Given the description of an element on the screen output the (x, y) to click on. 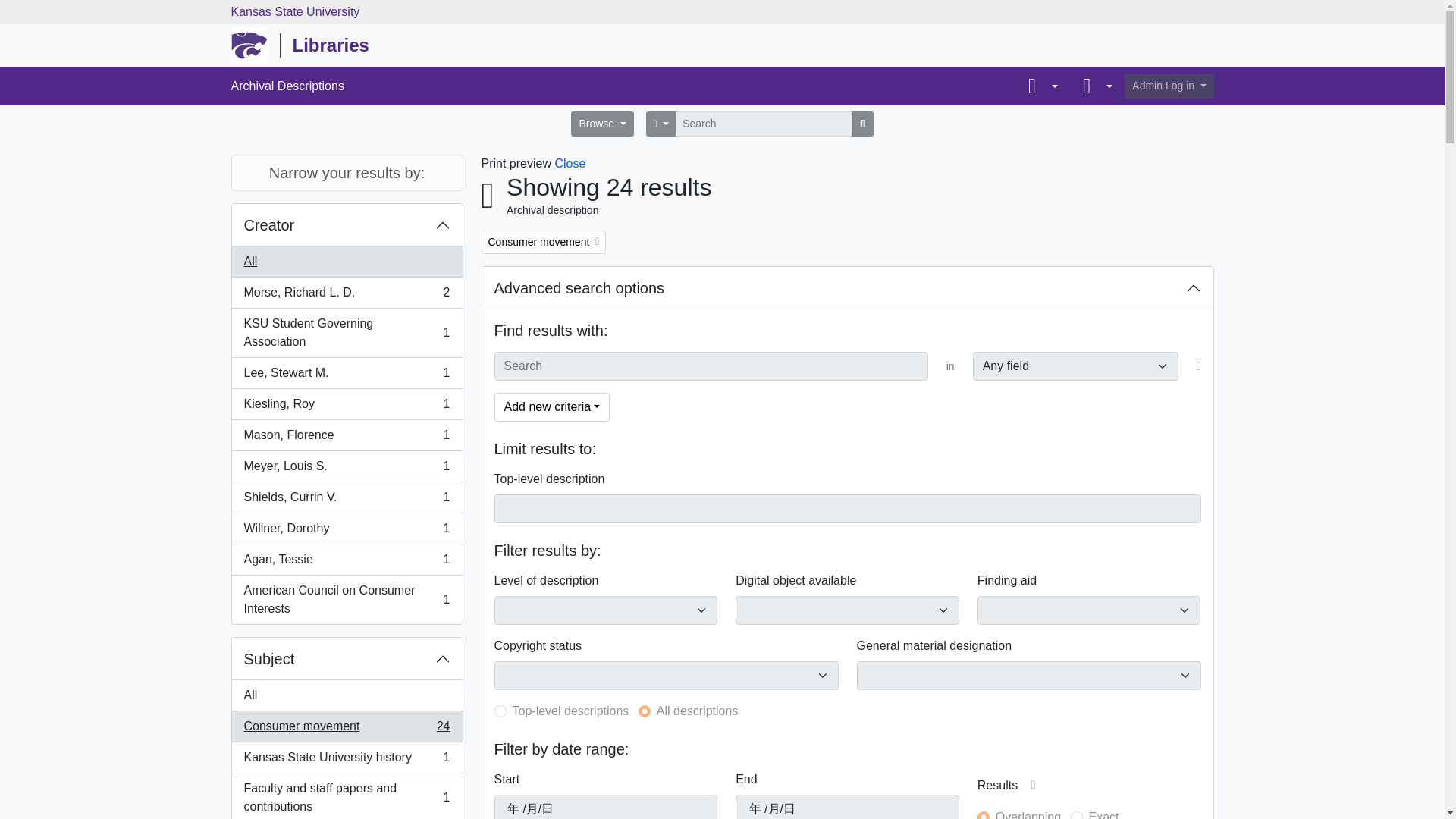
0 (347, 599)
Admin Log in (347, 404)
Browse (347, 332)
1 (644, 711)
Creator (347, 292)
exact (347, 497)
Kansas State University (1168, 85)
All (347, 435)
